Given the description of an element on the screen output the (x, y) to click on. 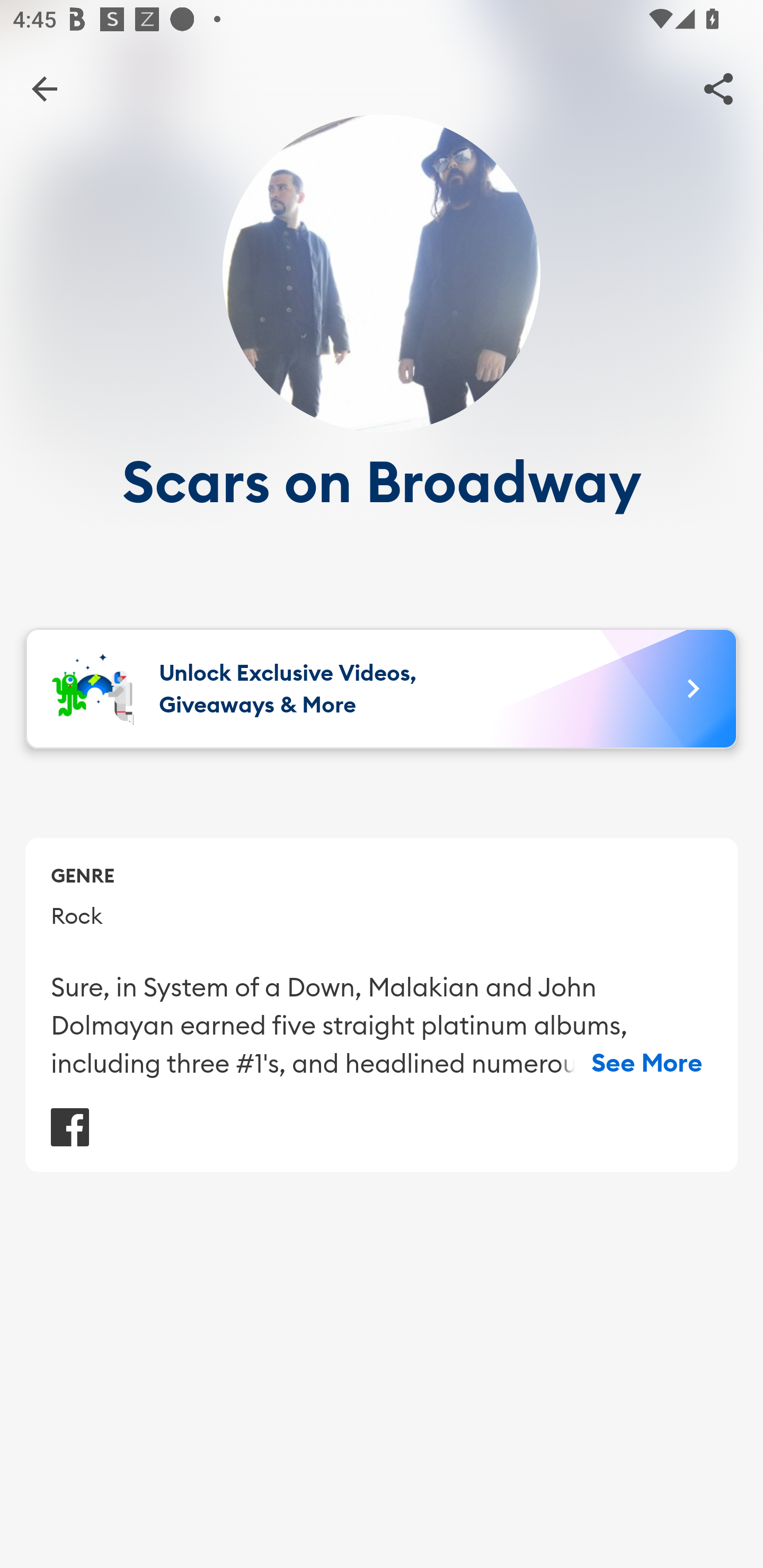
BackButton (44, 88)
Share (718, 88)
Unlock Exclusive Videos,
Giveaways & More (381, 688)
See More (646, 1062)
